Given the description of an element on the screen output the (x, y) to click on. 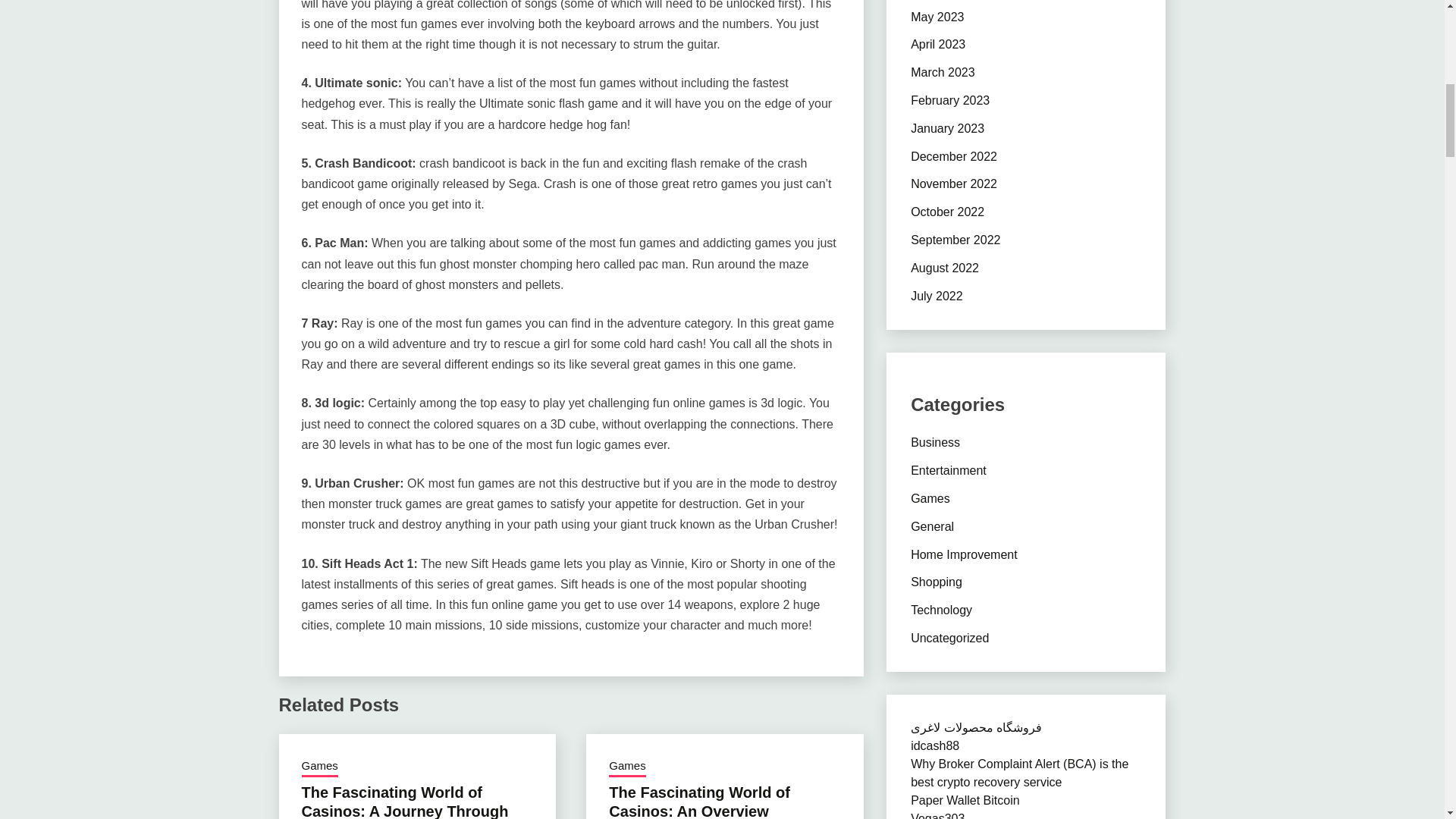
Games (319, 767)
The Fascinating World of Casinos: An Overview (699, 801)
Games (626, 767)
